Given the description of an element on the screen output the (x, y) to click on. 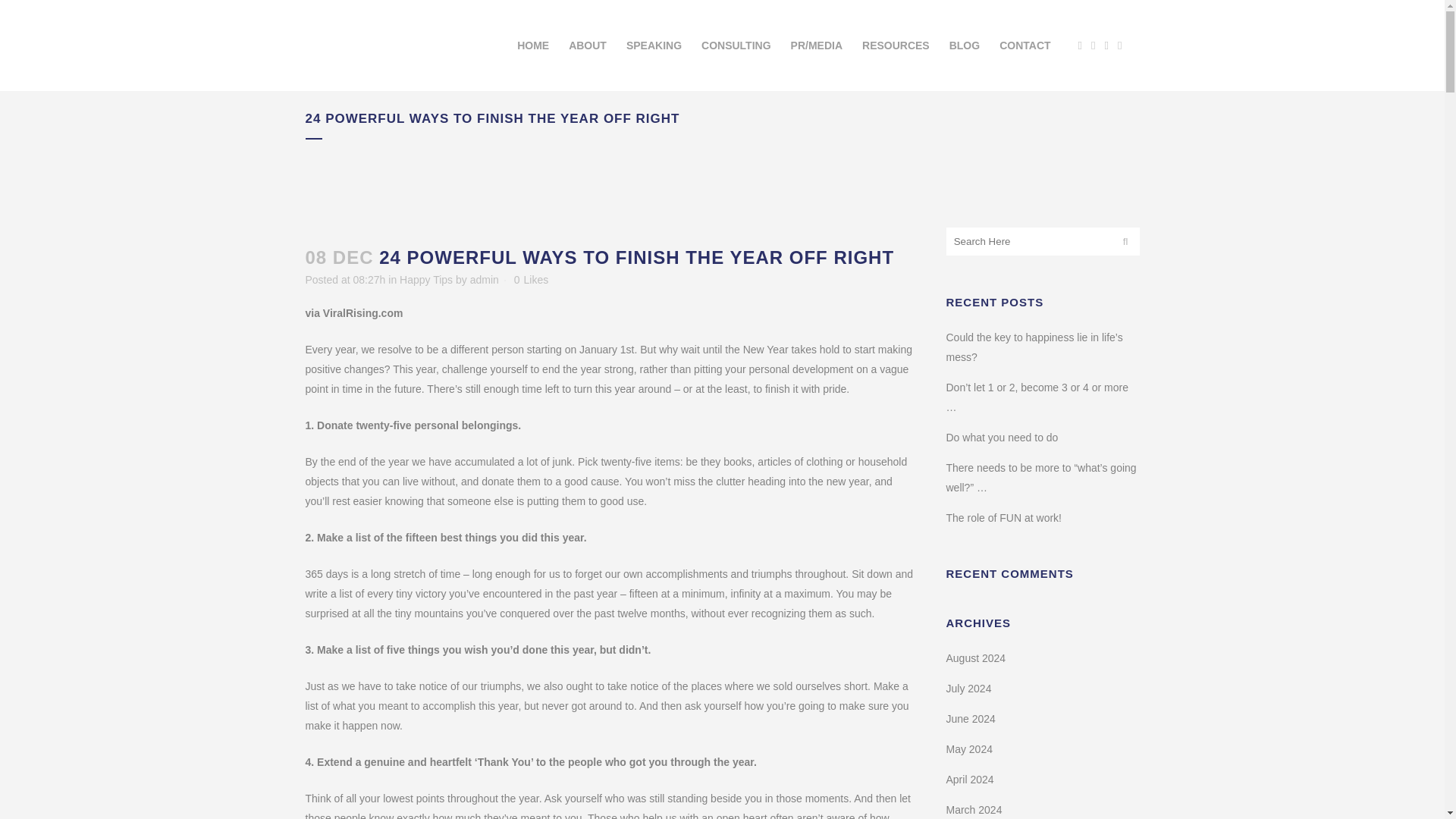
RESOURCES (895, 45)
The role of FUN at work! (1004, 517)
June 2024 (970, 718)
Do what you need to do (1002, 437)
Like this (530, 279)
0 Likes (530, 279)
August 2024 (976, 657)
admin (484, 279)
CONSULTING (735, 45)
Happy Tips (425, 279)
May 2024 (969, 748)
July 2024 (968, 688)
